Given the description of an element on the screen output the (x, y) to click on. 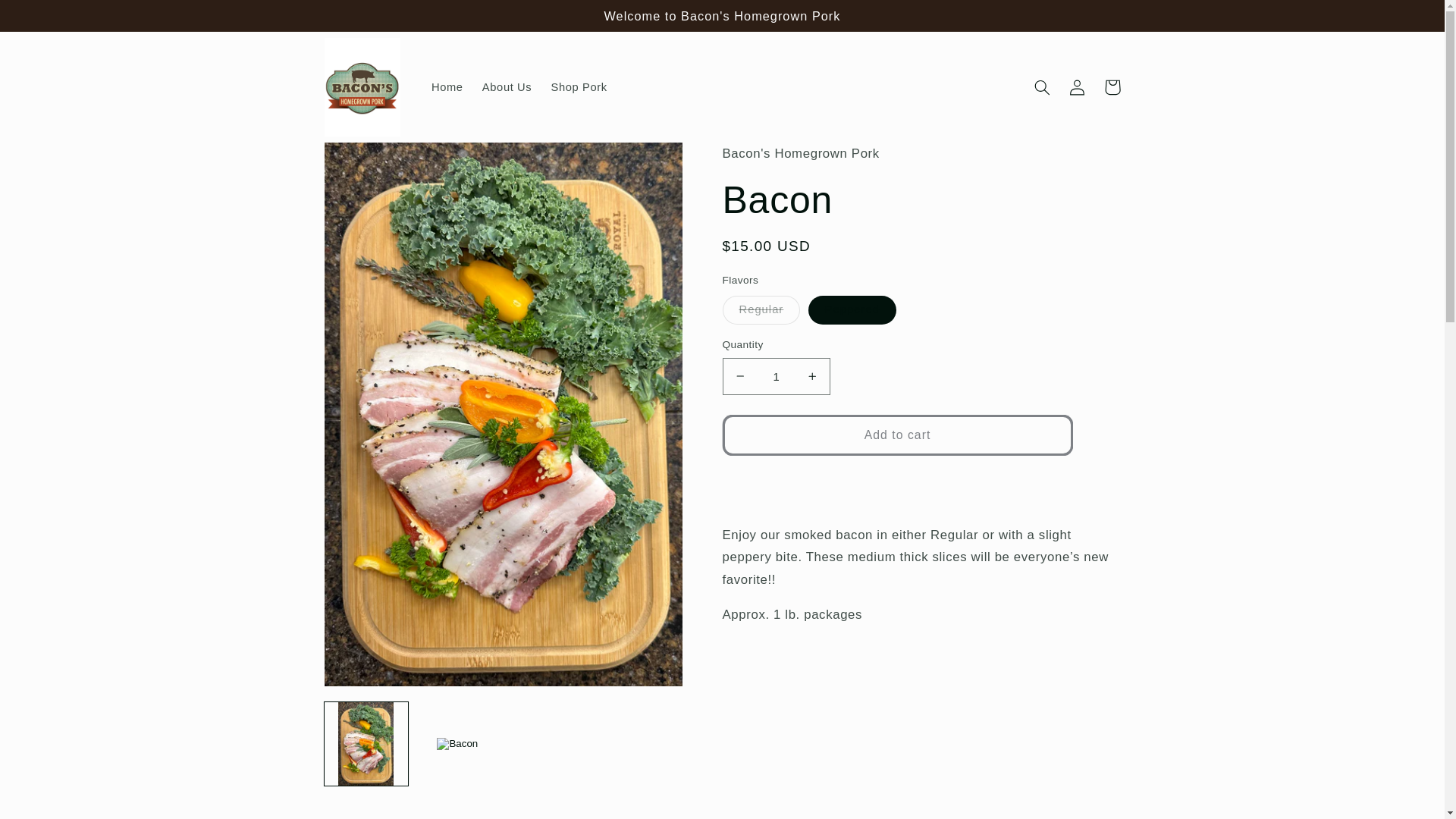
About Us (506, 87)
Skip to content (49, 19)
Add to cart (896, 434)
Log in (1076, 86)
1 (775, 375)
Shop Pork (578, 87)
Skip to product information (373, 161)
Increase quantity for Bacon (811, 375)
Decrease quantity for Bacon (740, 375)
